Given the description of an element on the screen output the (x, y) to click on. 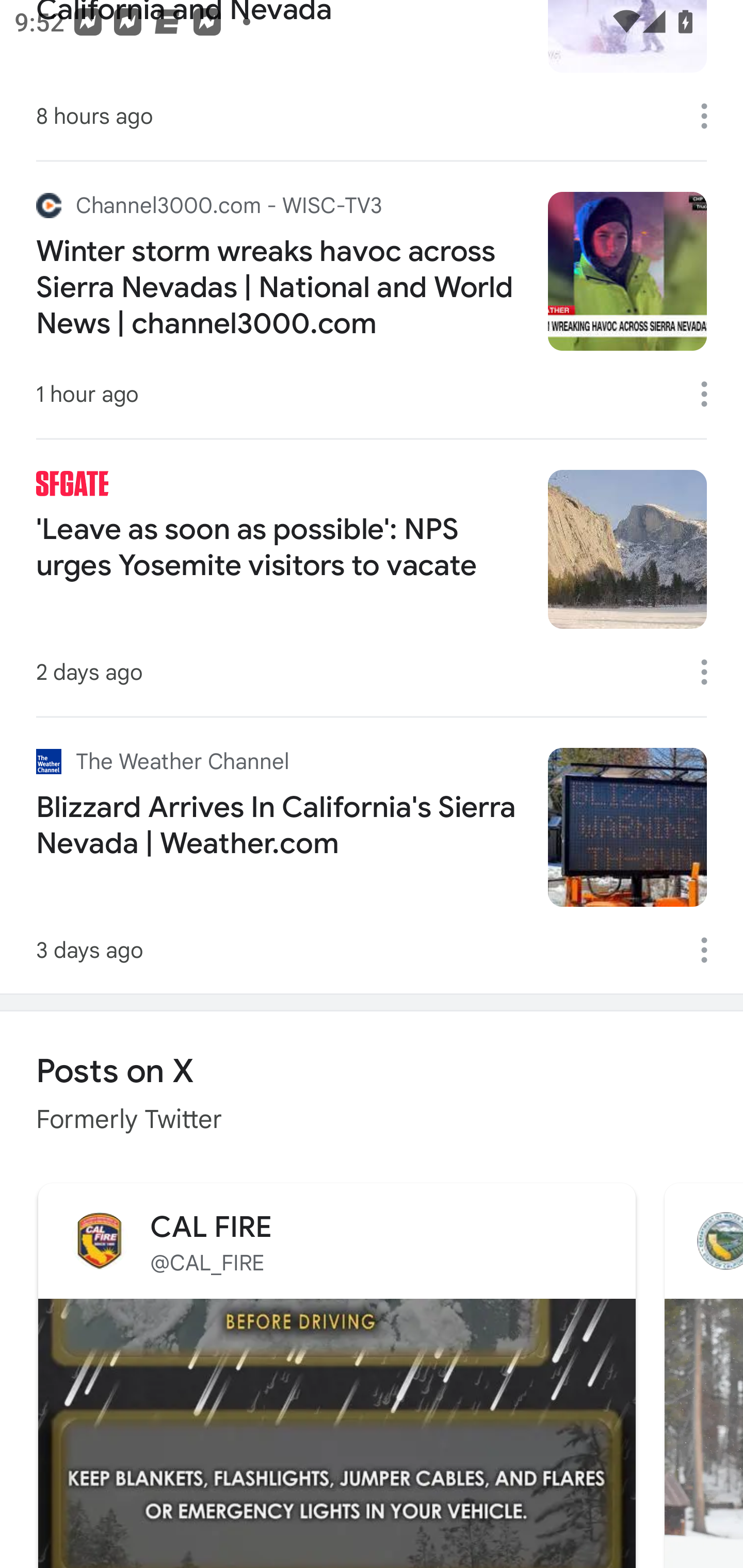
More options (711, 115)
More options (711, 394)
More options (711, 671)
More options (711, 950)
CAL FIRE @CAL_FIRE Image included in post (336, 1372)
